Given the description of an element on the screen output the (x, y) to click on. 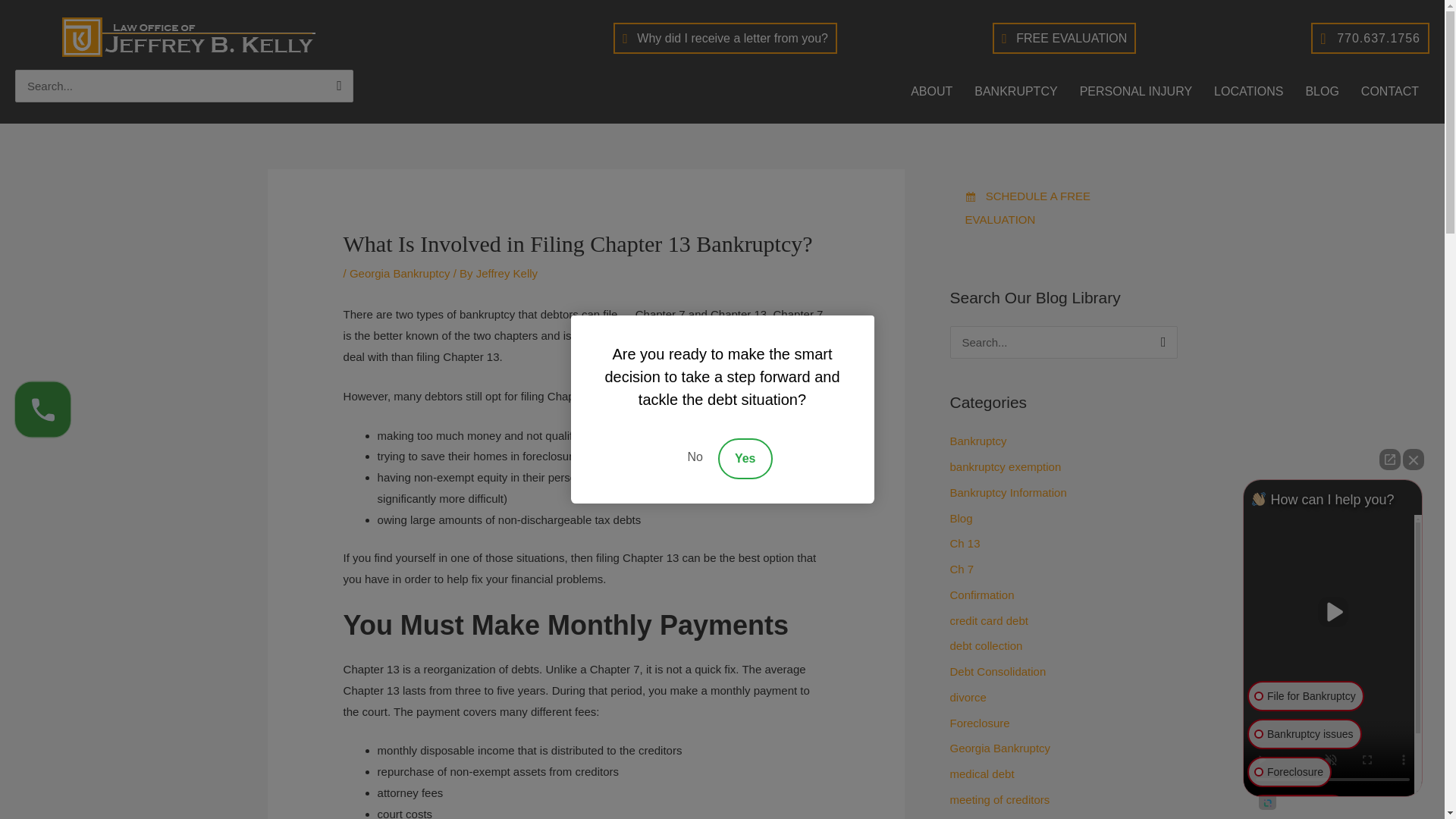
Search (1159, 345)
Search (335, 89)
View all posts by Jeffrey Kelly (506, 273)
Rome Bankruptcy Attorney (187, 36)
LOCATIONS (1249, 91)
ABOUT (930, 91)
Search (1159, 345)
BANKRUPTCY (1015, 91)
Search (335, 89)
FREE EVALUATION (1063, 38)
770.637.1756 (1370, 38)
Search (335, 89)
PERSONAL INJURY (1135, 91)
Why did I receive a letter from you? (724, 38)
